Given the description of an element on the screen output the (x, y) to click on. 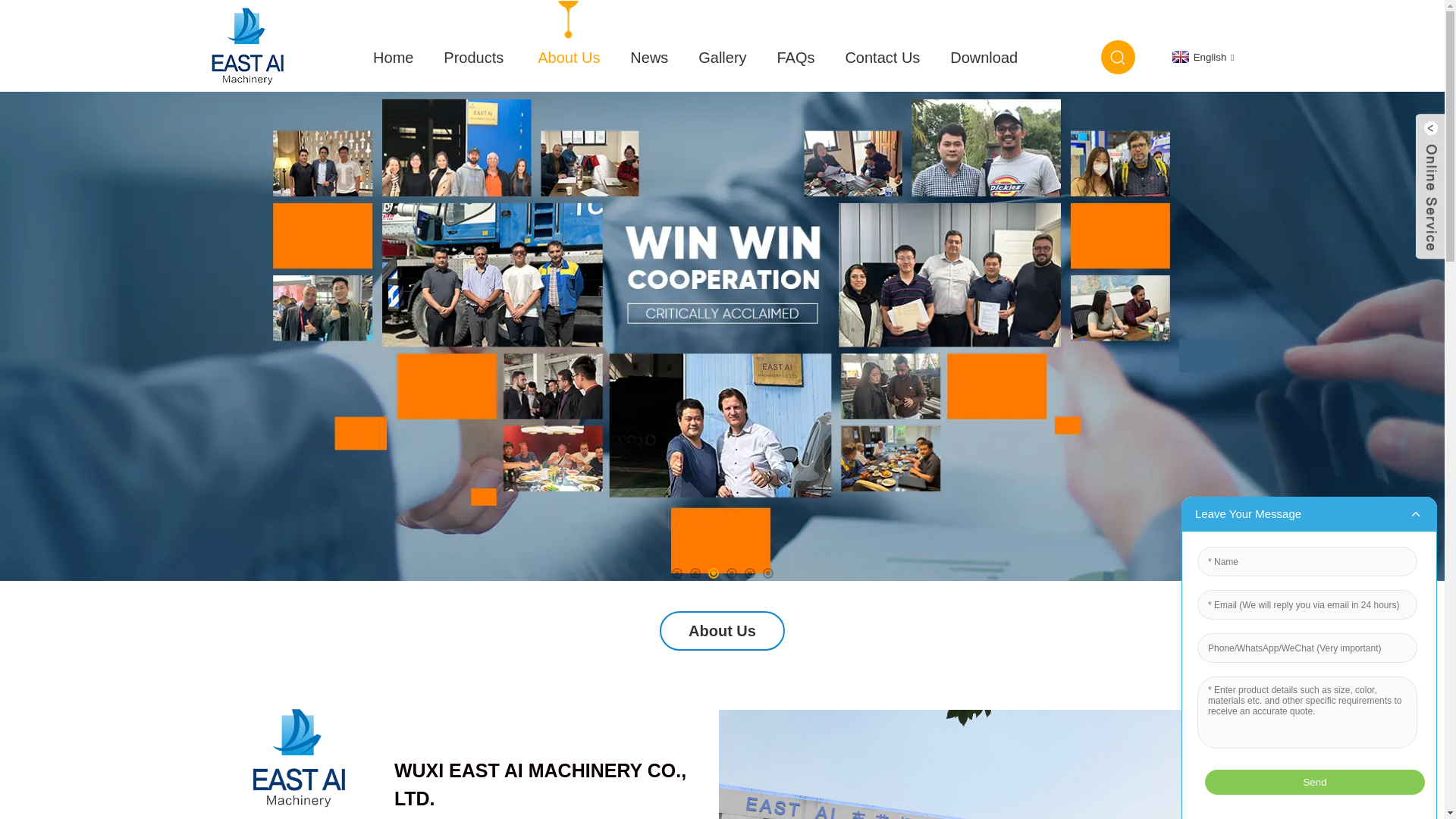
Download (983, 56)
Products (475, 56)
FAQs (795, 56)
News (648, 56)
Gallery (722, 56)
About Us (568, 56)
Contact Us (882, 56)
English (1201, 57)
Home (392, 56)
